Given the description of an element on the screen output the (x, y) to click on. 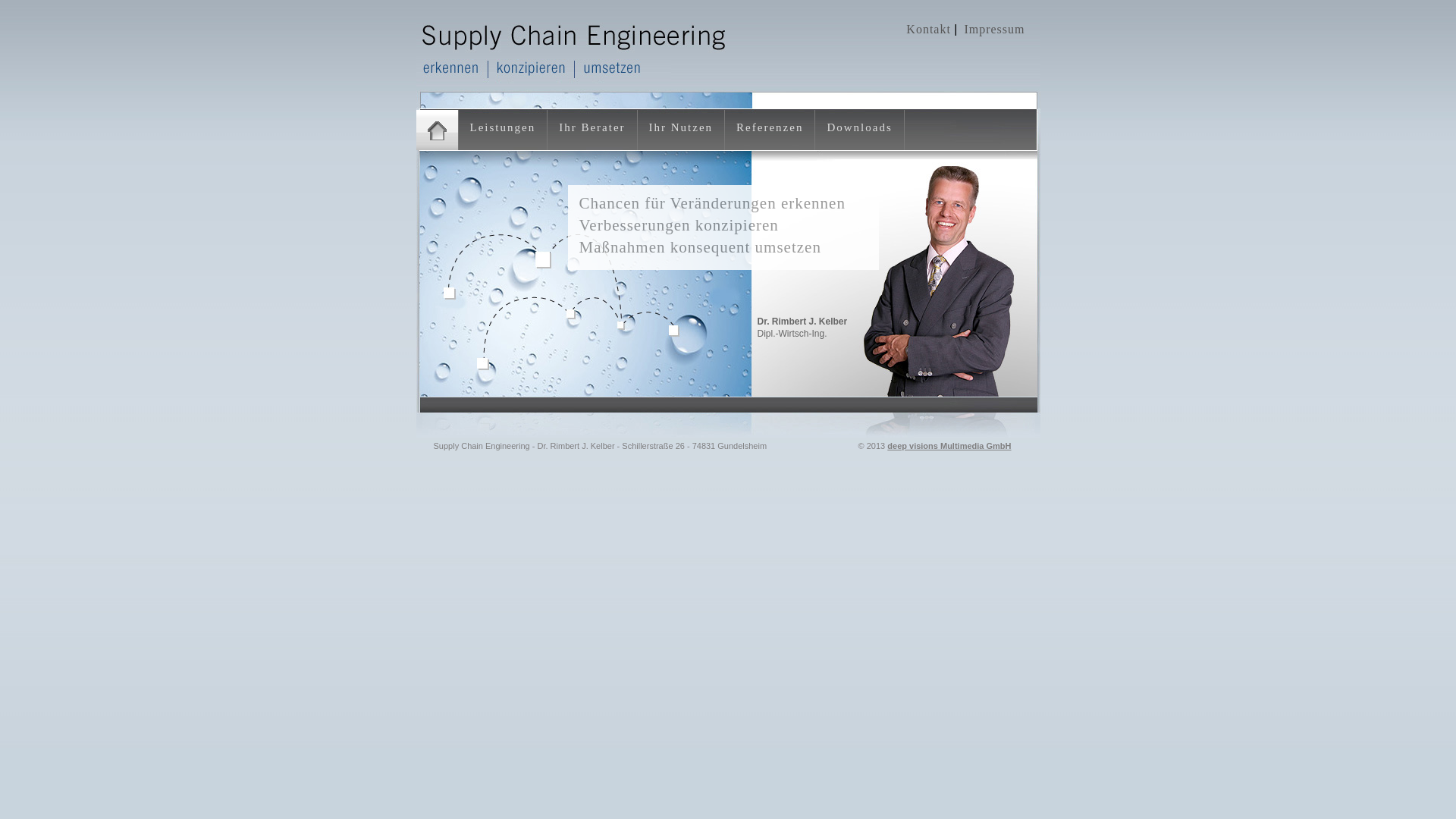
Kontakt Element type: text (928, 28)
deep visions Multimedia GmbH Element type: text (948, 445)
Ihr Berater Element type: text (591, 127)
Leistungen Element type: text (503, 127)
Referenzen Element type: text (769, 127)
Downloads Element type: text (858, 127)
Ihr Nutzen Element type: text (681, 127)
Impressum Element type: text (993, 28)
